Given the description of an element on the screen output the (x, y) to click on. 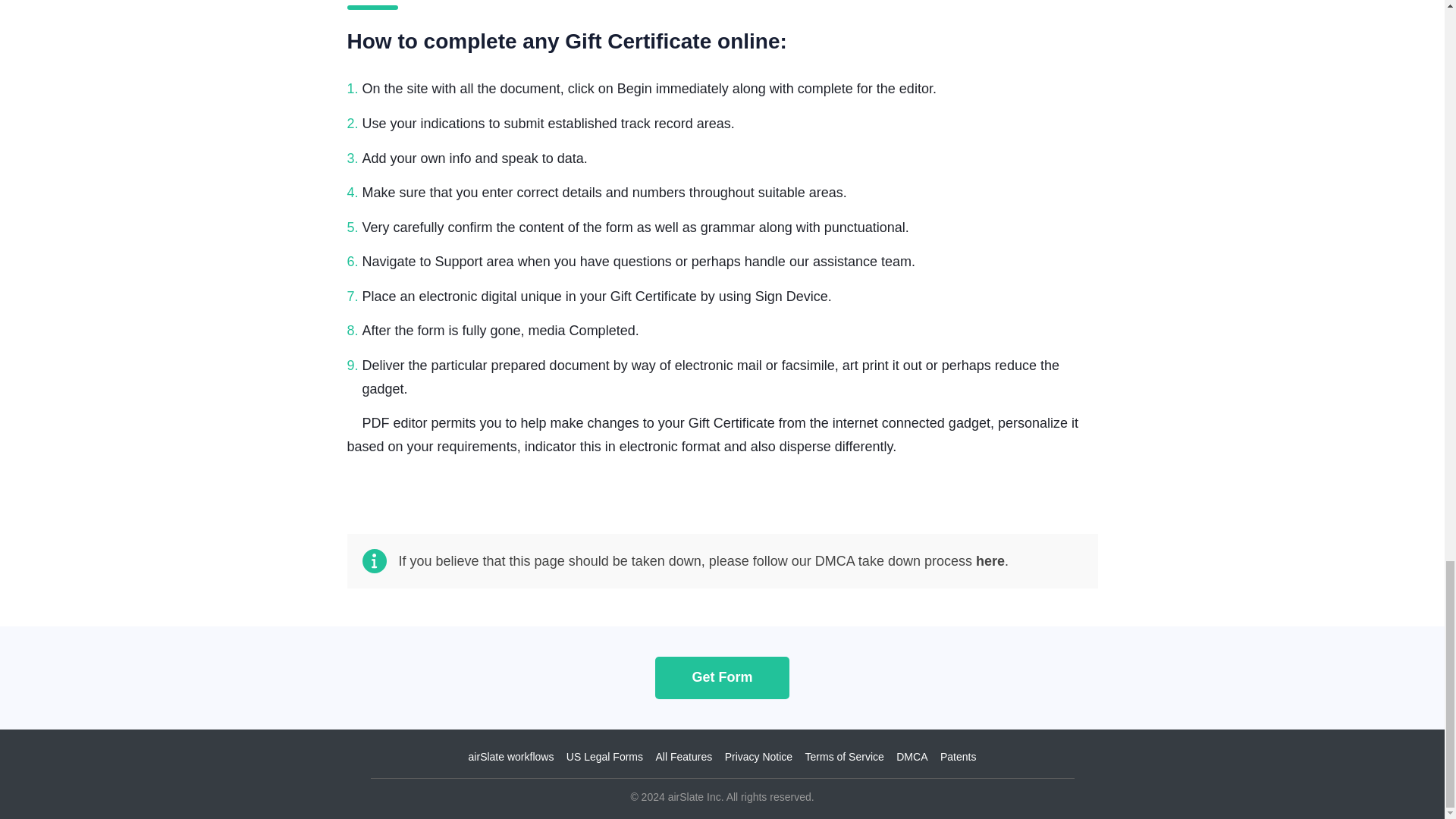
Patents (957, 756)
All Features (683, 756)
here (989, 560)
DMCA (911, 756)
Privacy Notice (758, 756)
Get Form (722, 676)
Terms of Service (844, 756)
US Legal Forms (604, 756)
airSlate workflows (511, 756)
